Given the description of an element on the screen output the (x, y) to click on. 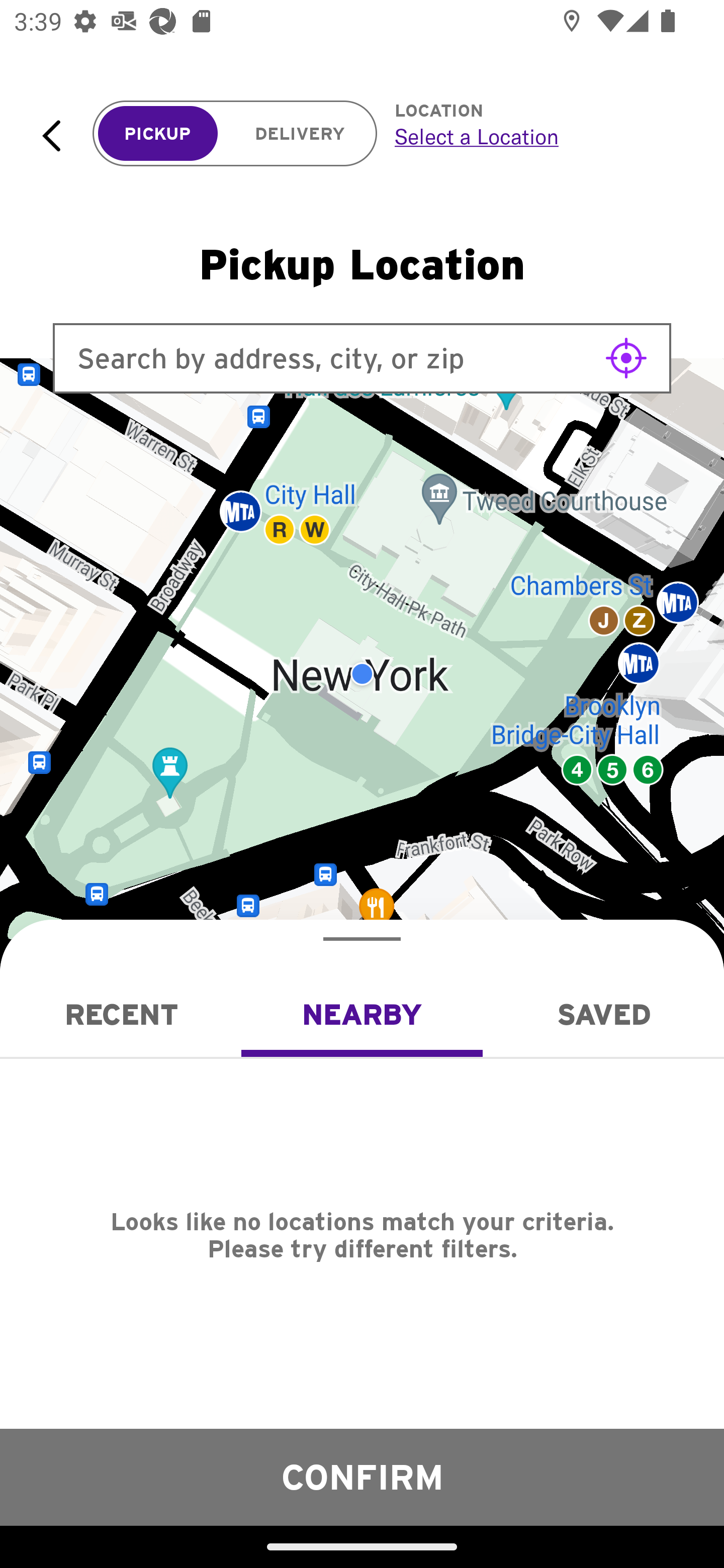
PICKUP (157, 133)
DELIVERY (299, 133)
Select a Location (536, 136)
Search by address, city, or zip (361, 358)
Google Map (362, 674)
Recent RECENT (120, 1014)
Saved SAVED (603, 1014)
CONFIRM (362, 1476)
